Given the description of an element on the screen output the (x, y) to click on. 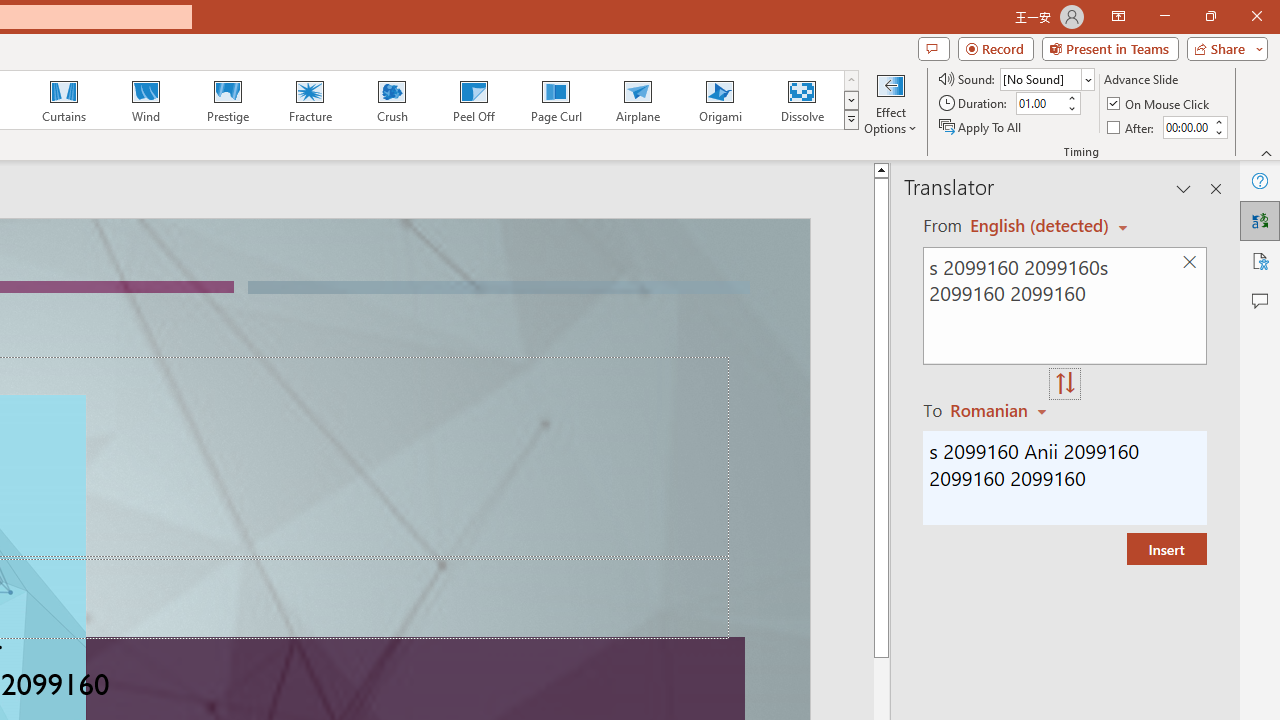
More (1218, 121)
Origami (719, 100)
Page Curl (555, 100)
Duration (1039, 103)
Row up (850, 79)
Dissolve (802, 100)
Wind (145, 100)
Airplane (637, 100)
